Given the description of an element on the screen output the (x, y) to click on. 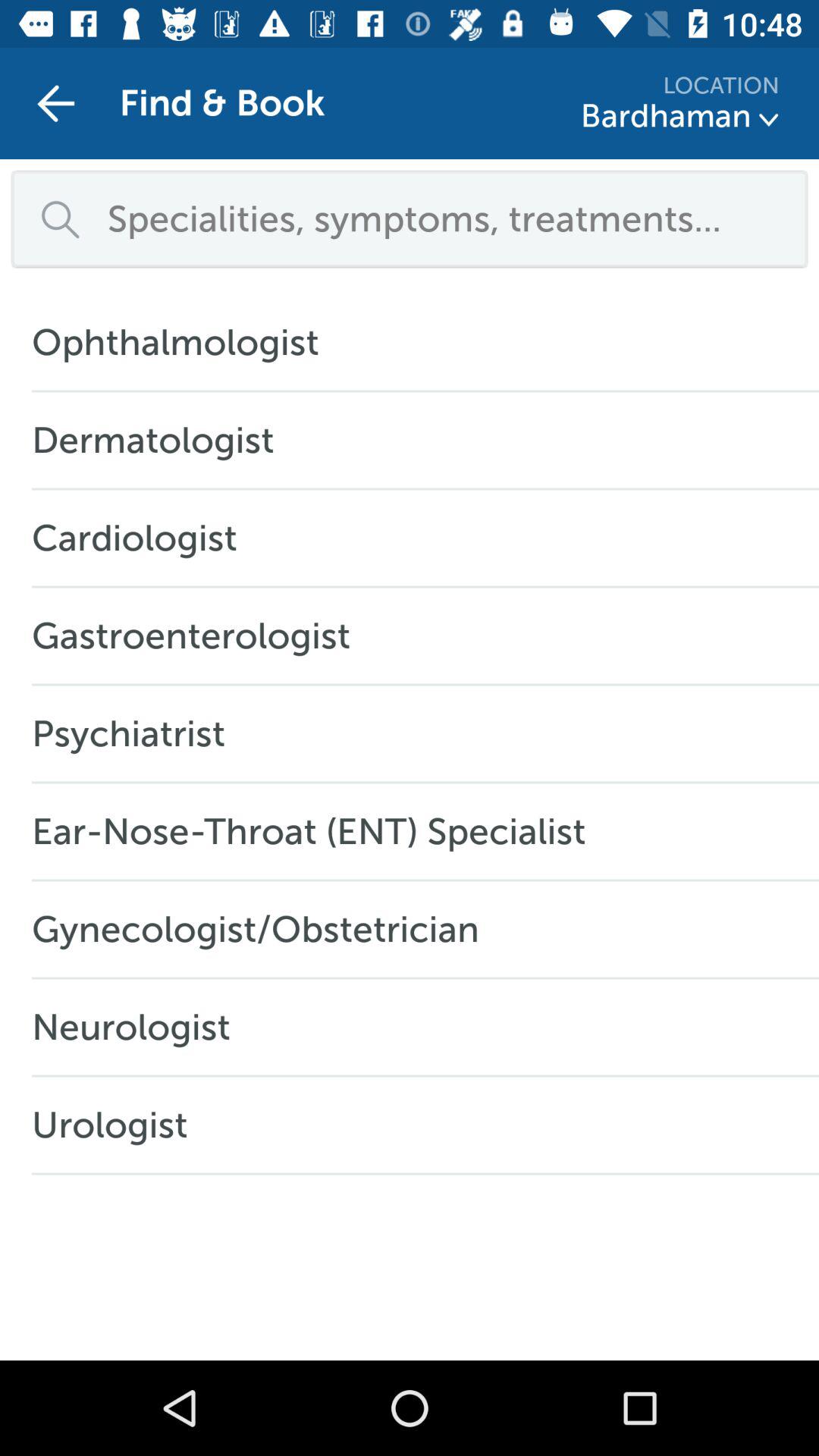
launch icon to the left of find & book icon (55, 103)
